Given the description of an element on the screen output the (x, y) to click on. 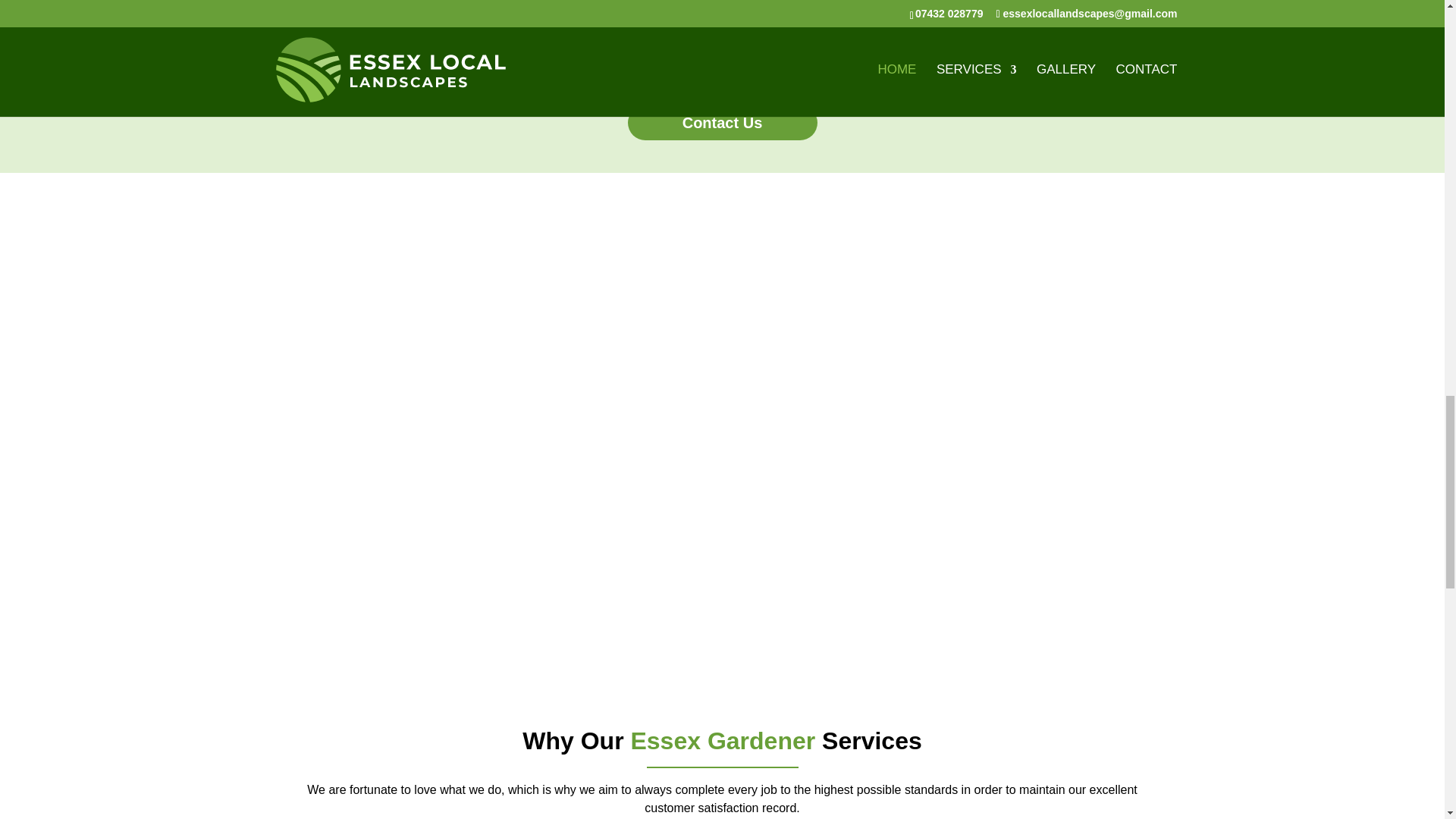
Contact Us (721, 122)
